Given the description of an element on the screen output the (x, y) to click on. 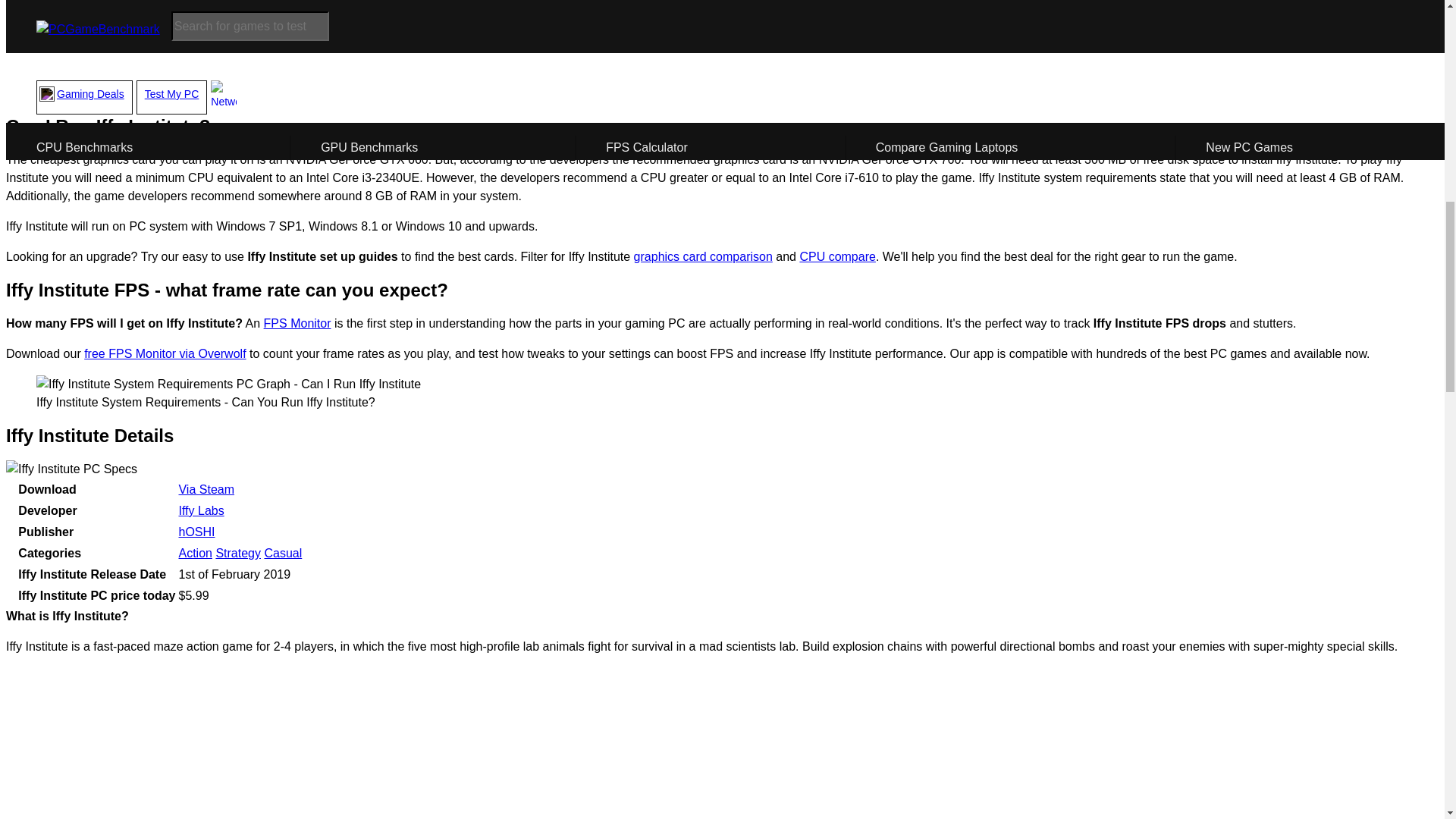
Iffy Labs (200, 510)
graphics card comparison (703, 256)
Via Steam (205, 489)
Strategy PC Games - full list (237, 553)
free FPS Monitor via Overwolf (165, 353)
PC games by hOSHI - full list (195, 531)
hOSHI (195, 531)
Casual PC Games - full list (282, 553)
Action PC Games - full list (194, 553)
